Given the description of an element on the screen output the (x, y) to click on. 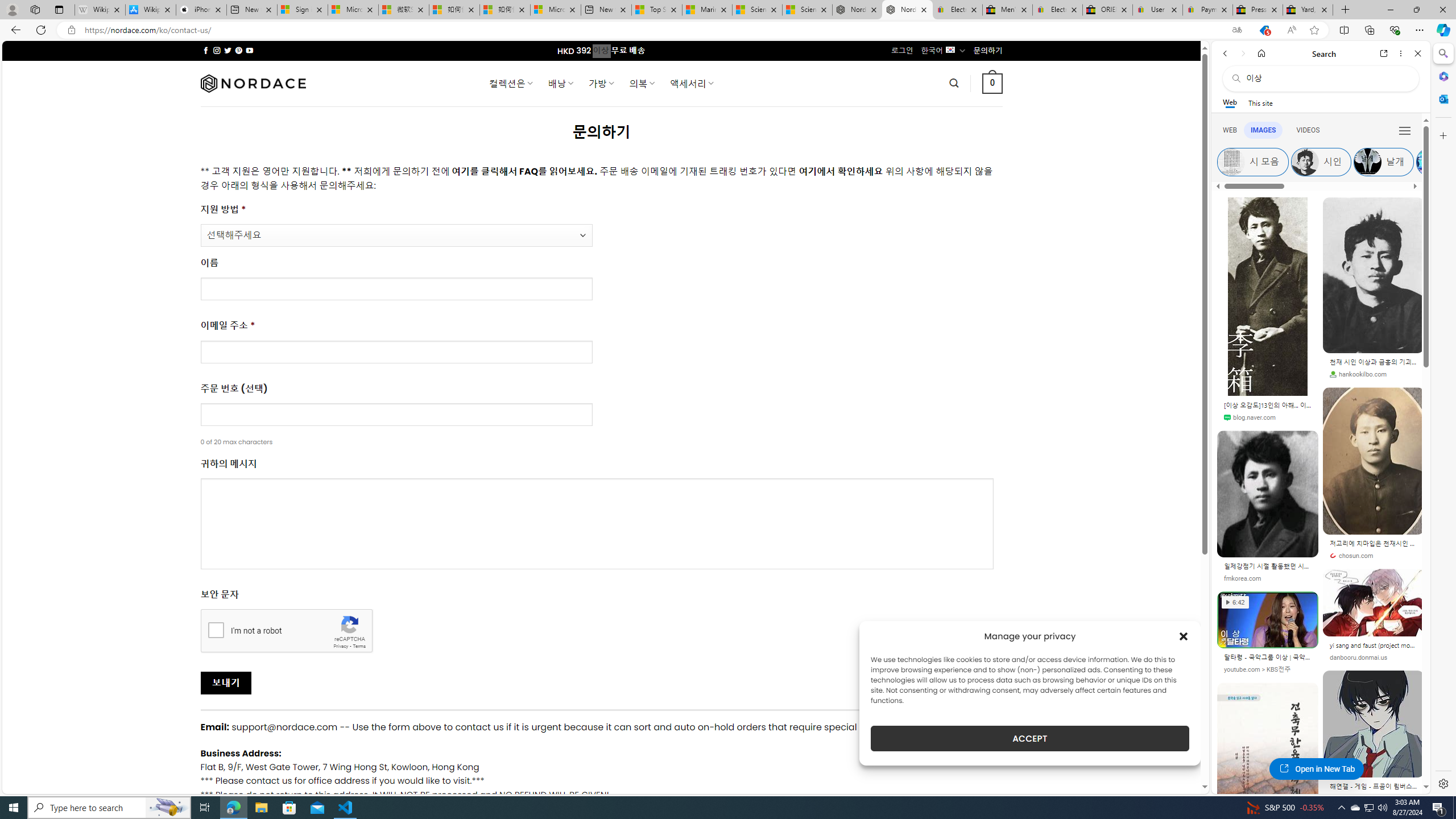
chosun.com (1372, 555)
